Given the description of an element on the screen output the (x, y) to click on. 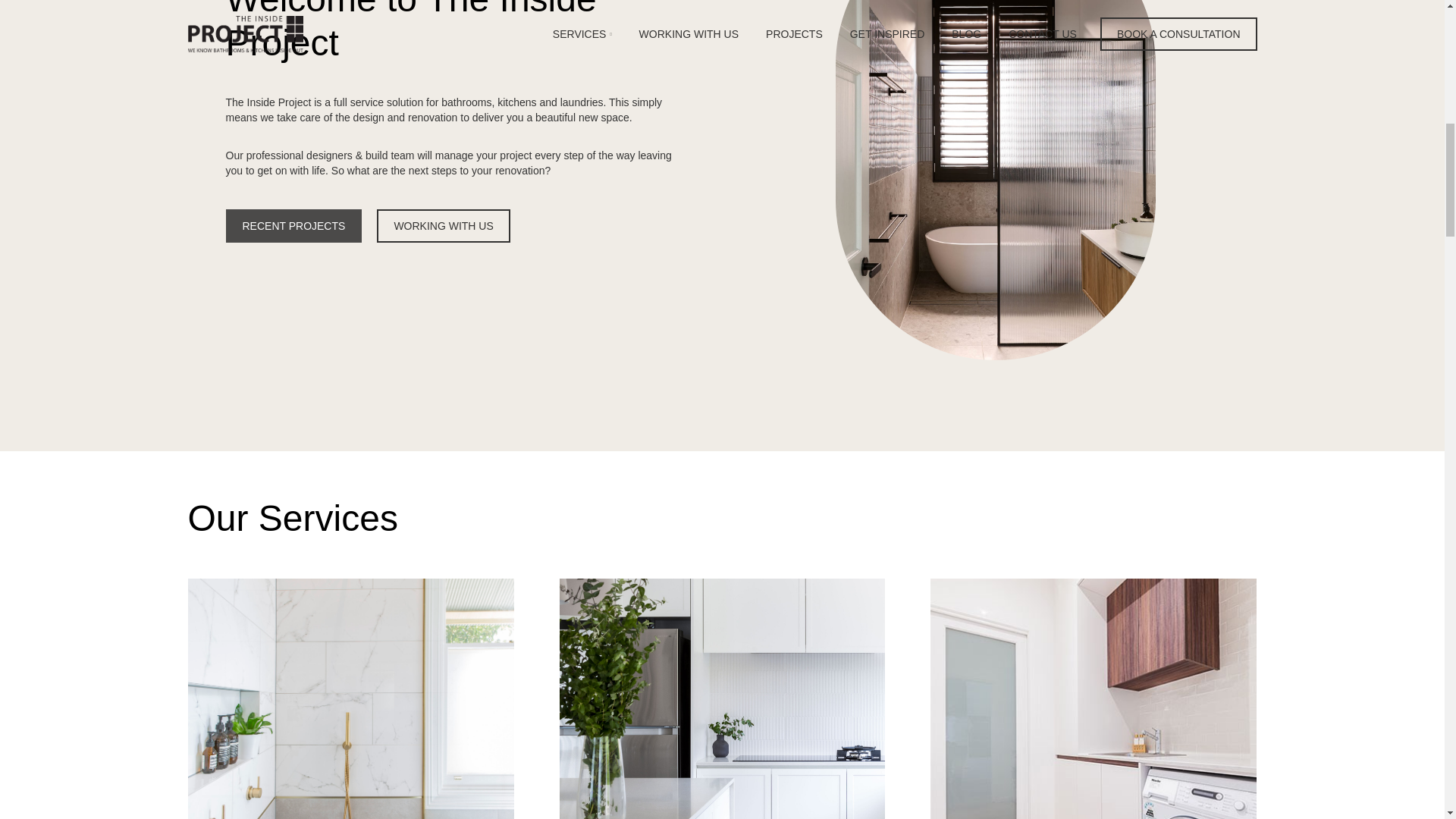
RECENT PROJECTS (293, 225)
WORKING WITH US (443, 225)
